Given the description of an element on the screen output the (x, y) to click on. 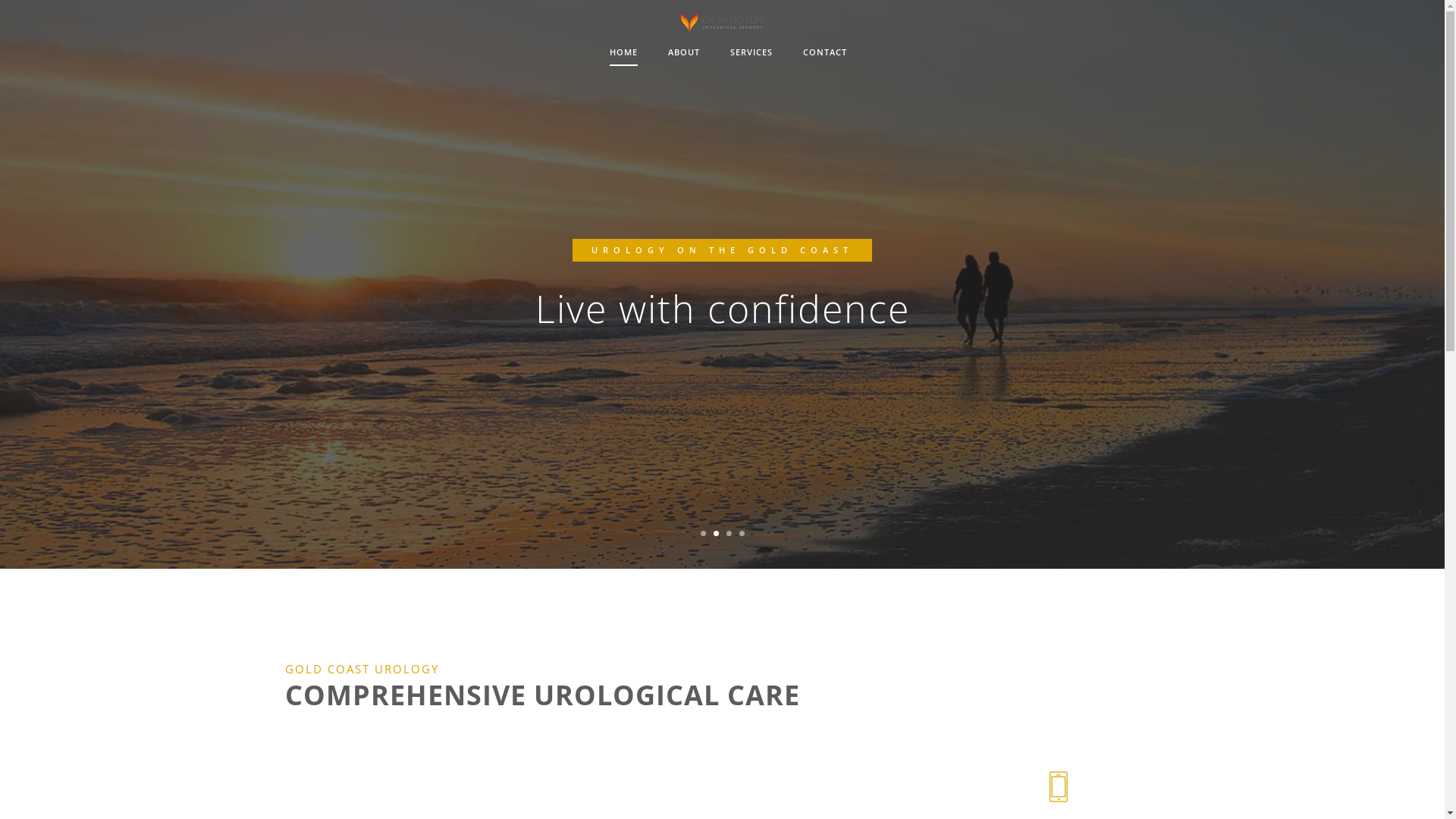
HOME Element type: text (623, 52)
ABOUT Element type: text (683, 52)
CONTACT Element type: text (824, 52)
SERVICES Element type: text (750, 52)
